Given the description of an element on the screen output the (x, y) to click on. 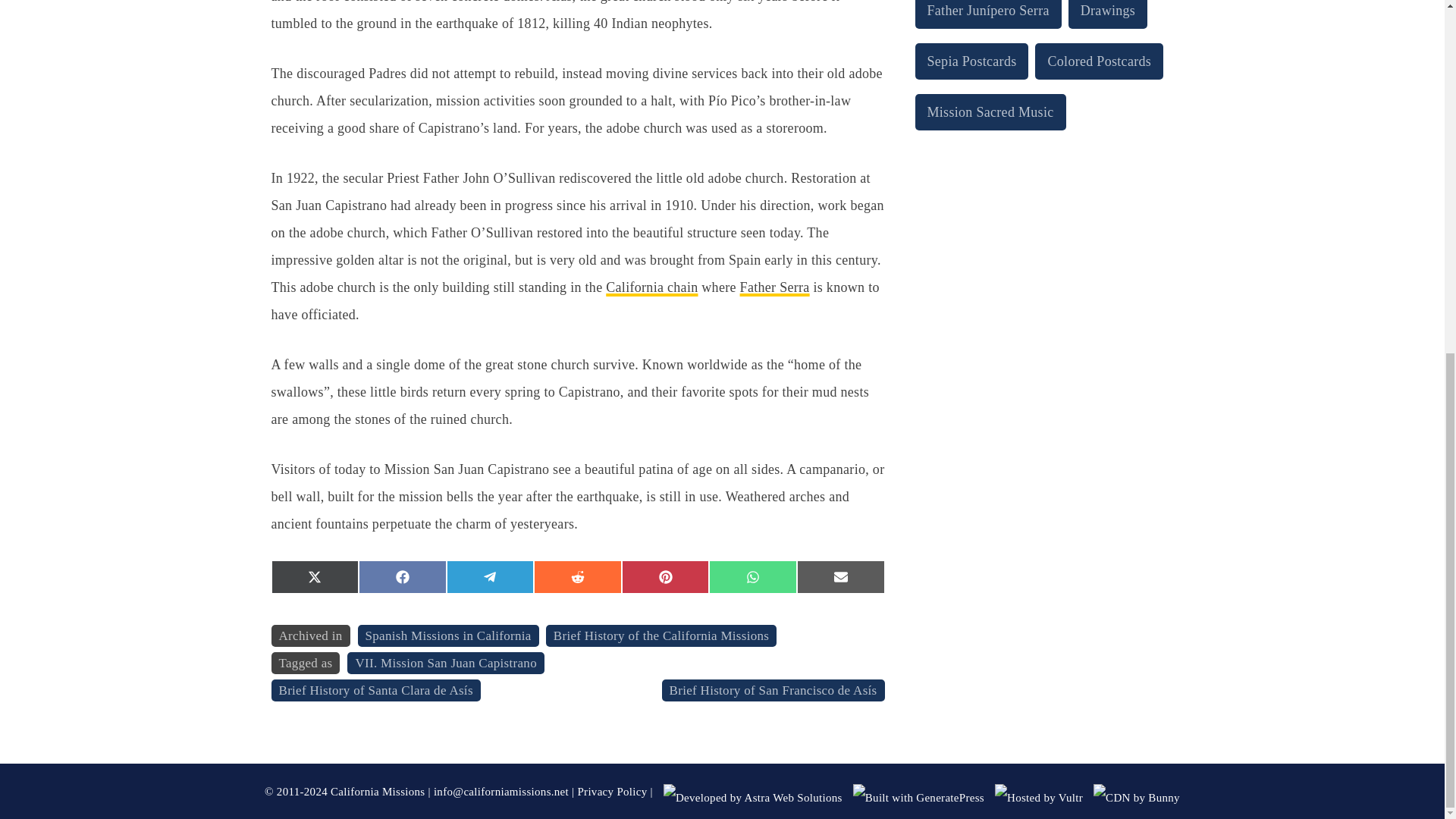
Developed by Astra Web Solutions (753, 797)
Hosted by Vultr (1038, 797)
Built with GeneratePress (918, 797)
CDN by Bunny (1136, 797)
